Given the description of an element on the screen output the (x, y) to click on. 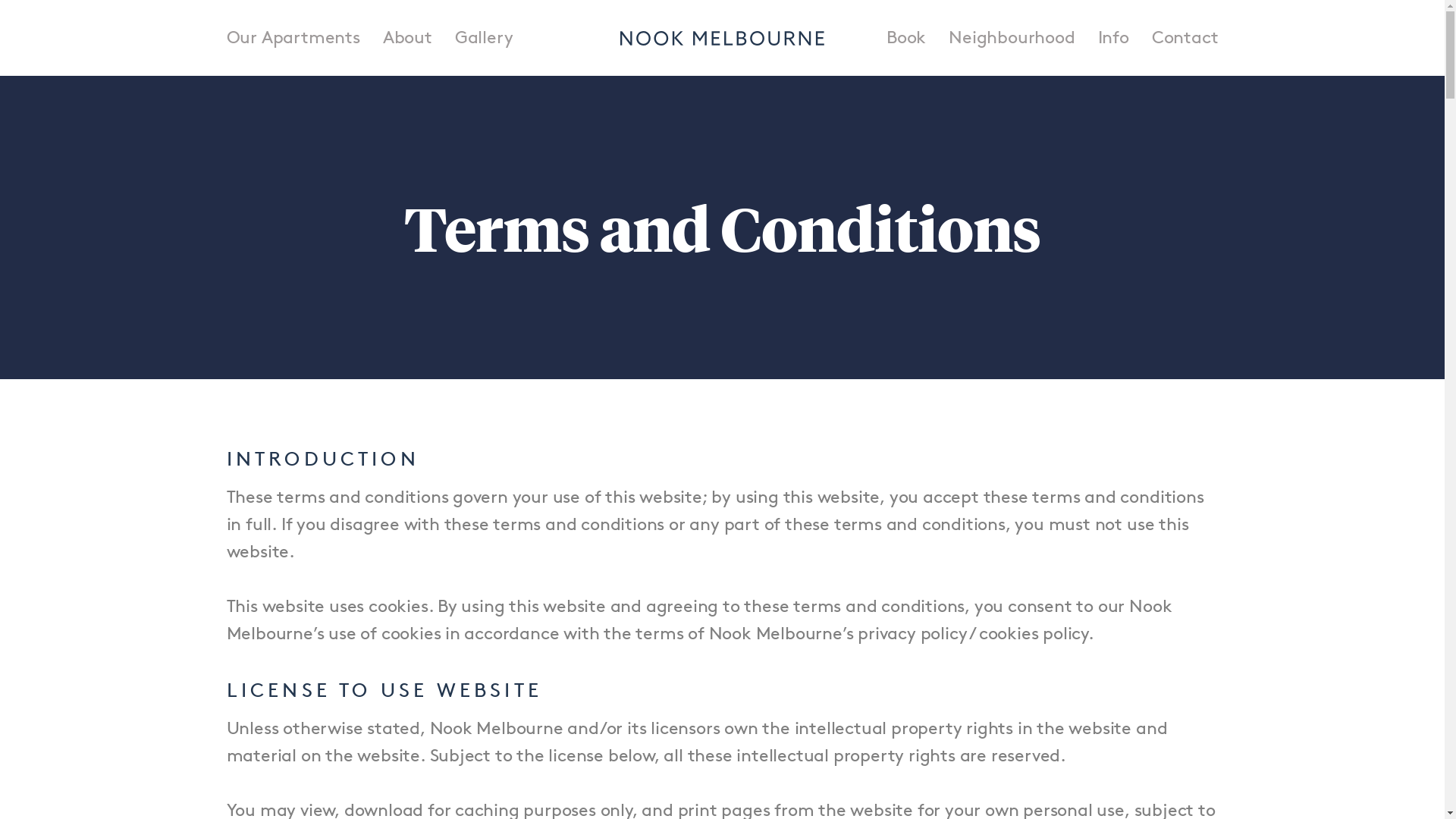
Our Apartments Element type: text (292, 37)
About Element type: text (407, 37)
Gallery Element type: text (484, 37)
Contact Element type: text (1184, 37)
Neighbourhood Element type: text (1011, 37)
Book Element type: text (905, 37)
Info Element type: text (1113, 37)
